Given the description of an element on the screen output the (x, y) to click on. 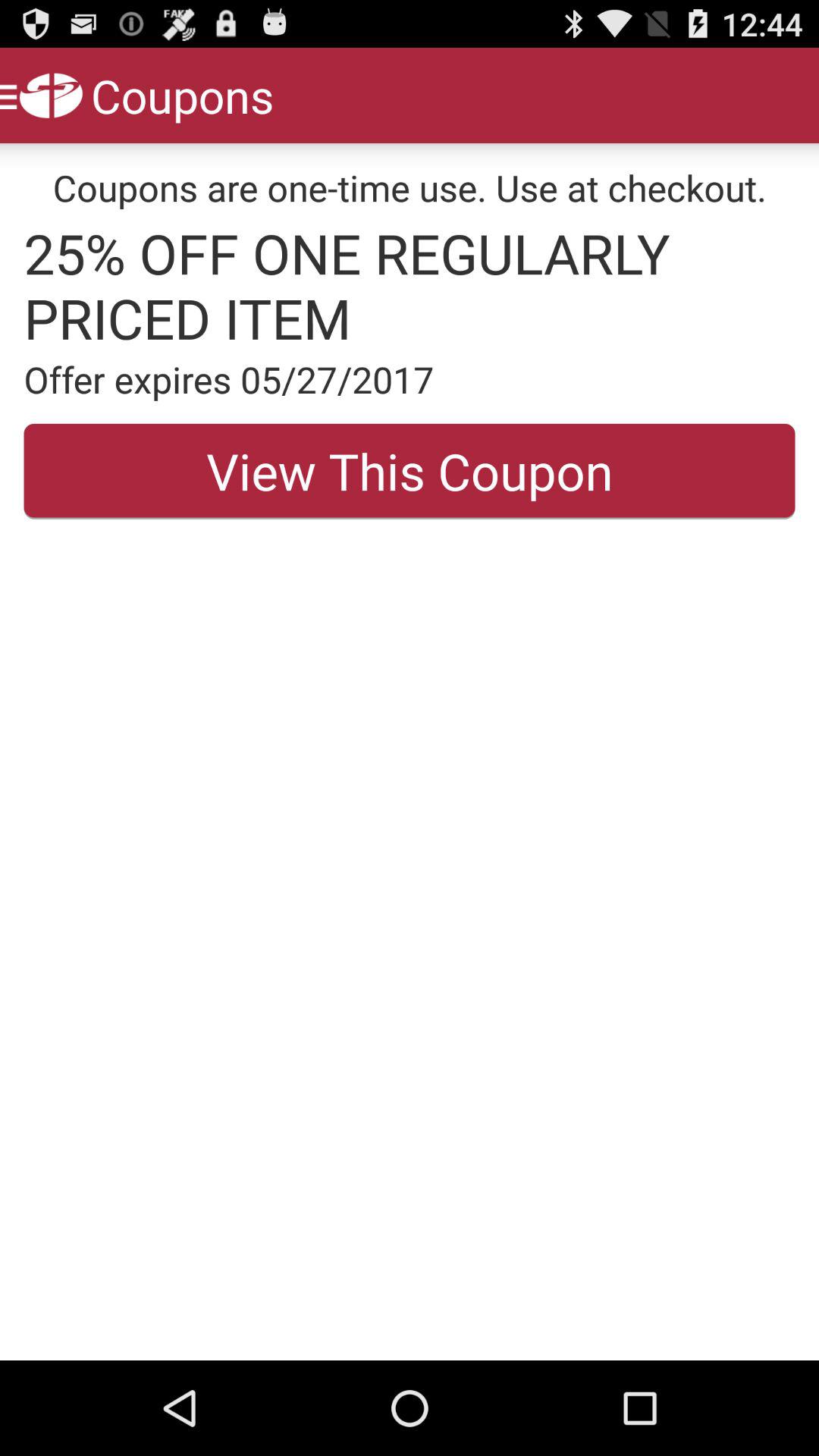
turn on item above the view this coupon (409, 378)
